Given the description of an element on the screen output the (x, y) to click on. 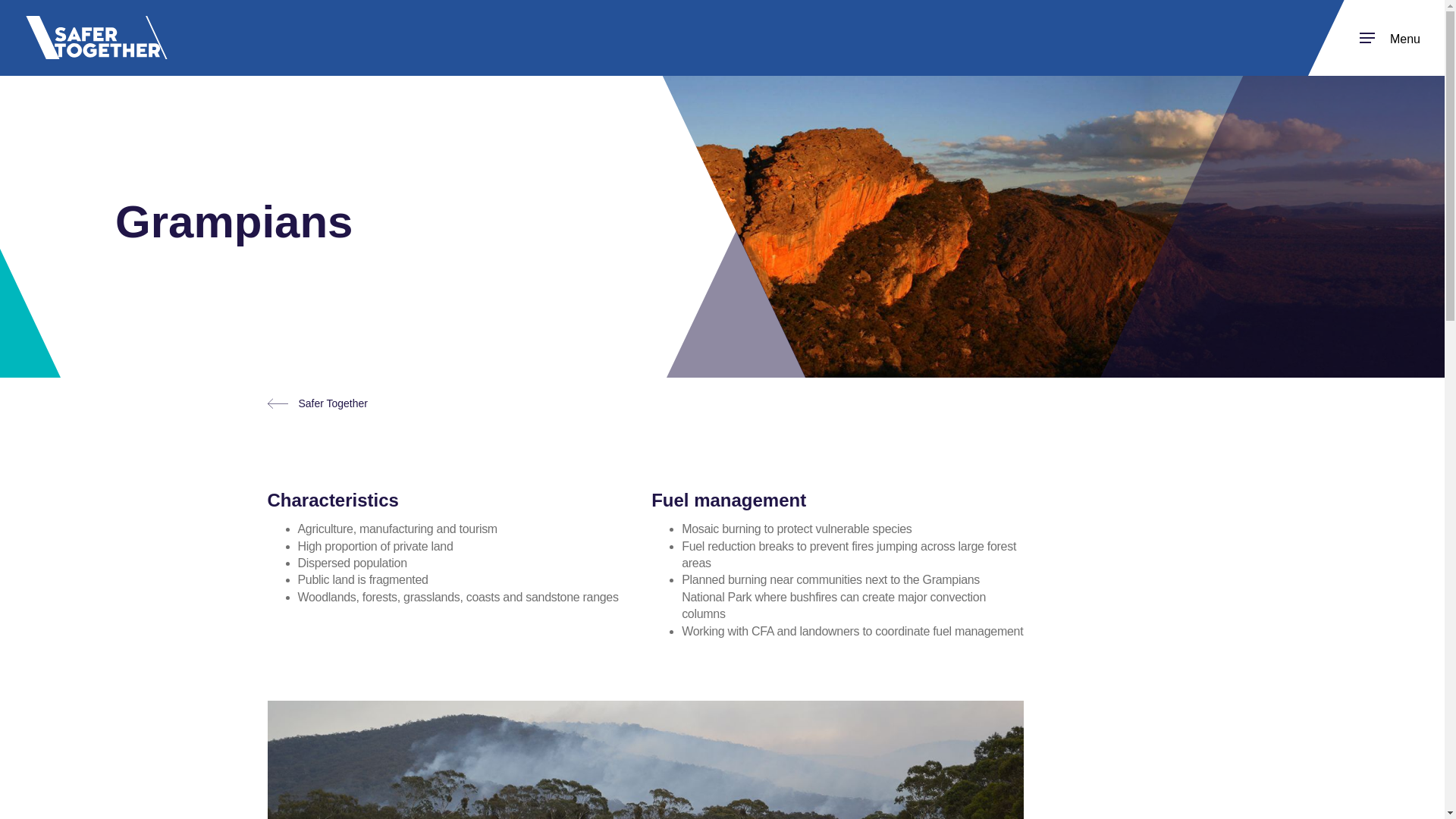
Home - Safer Together (96, 36)
DEECA logo (1390, 36)
Safer Together (96, 36)
